Given the description of an element on the screen output the (x, y) to click on. 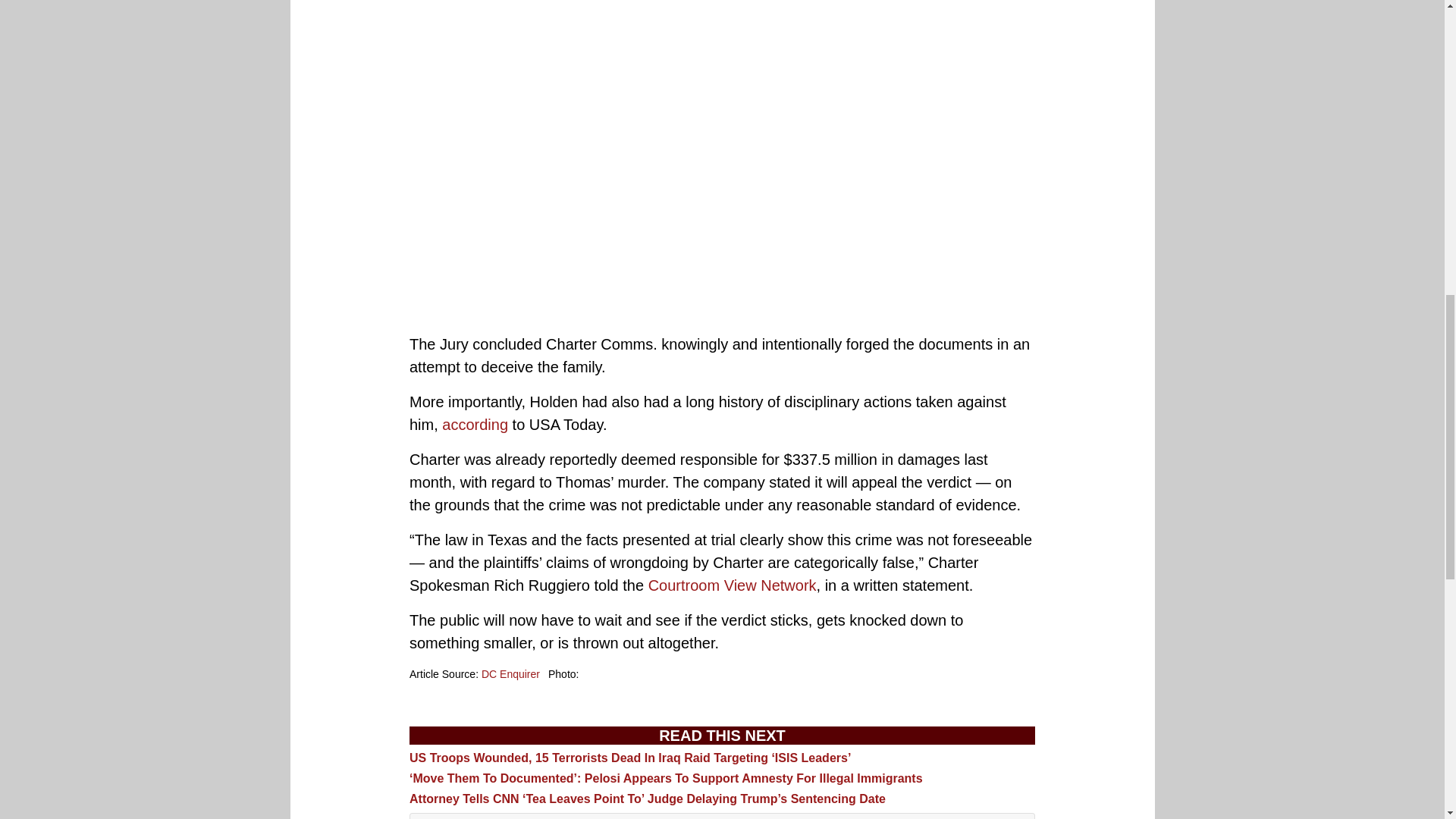
DC Enquirer (510, 674)
according (475, 424)
Courtroom View Network (731, 585)
